Given the description of an element on the screen output the (x, y) to click on. 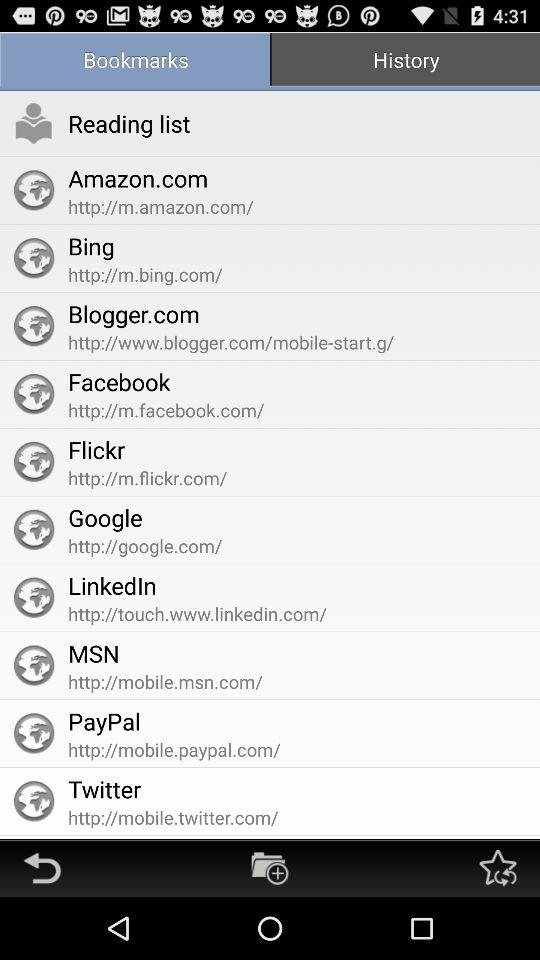
click item next to the history (135, 61)
